Given the description of an element on the screen output the (x, y) to click on. 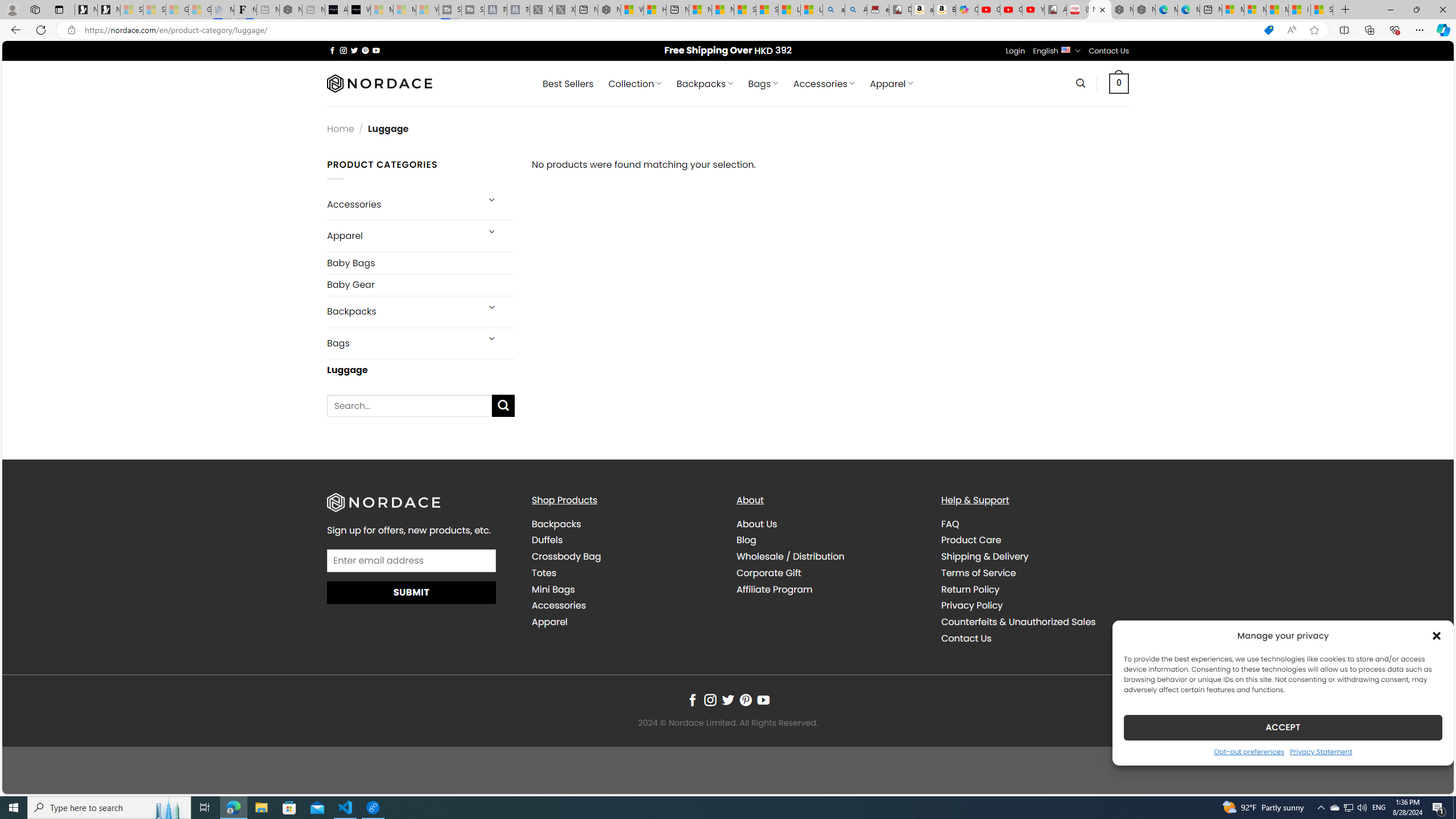
Microsoft Start Sports - Sleeping (381, 9)
Duffels (547, 540)
Go to top (1430, 777)
AutomationID: input_4_1 (411, 560)
Backpacks (555, 523)
Luggage (421, 369)
All Cubot phones (1055, 9)
